Given the description of an element on the screen output the (x, y) to click on. 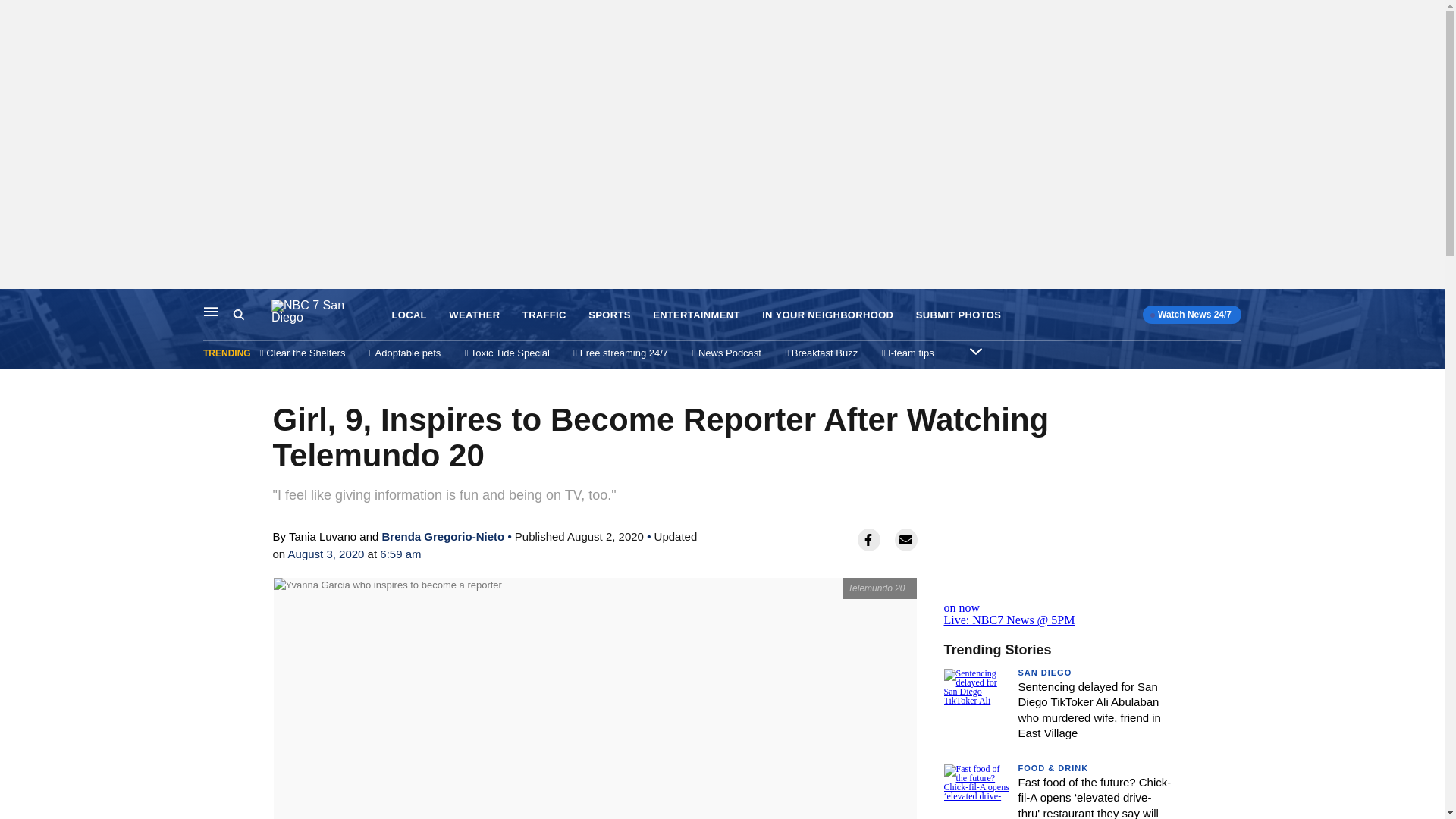
SUBMIT PHOTOS (958, 315)
WEATHER (473, 315)
Brenda Gregorio-Nieto (443, 535)
TRAFFIC (544, 315)
Skip to content (16, 304)
ENTERTAINMENT (695, 315)
LOCAL (408, 315)
Search (252, 314)
SPORTS (609, 315)
